Given the description of an element on the screen output the (x, y) to click on. 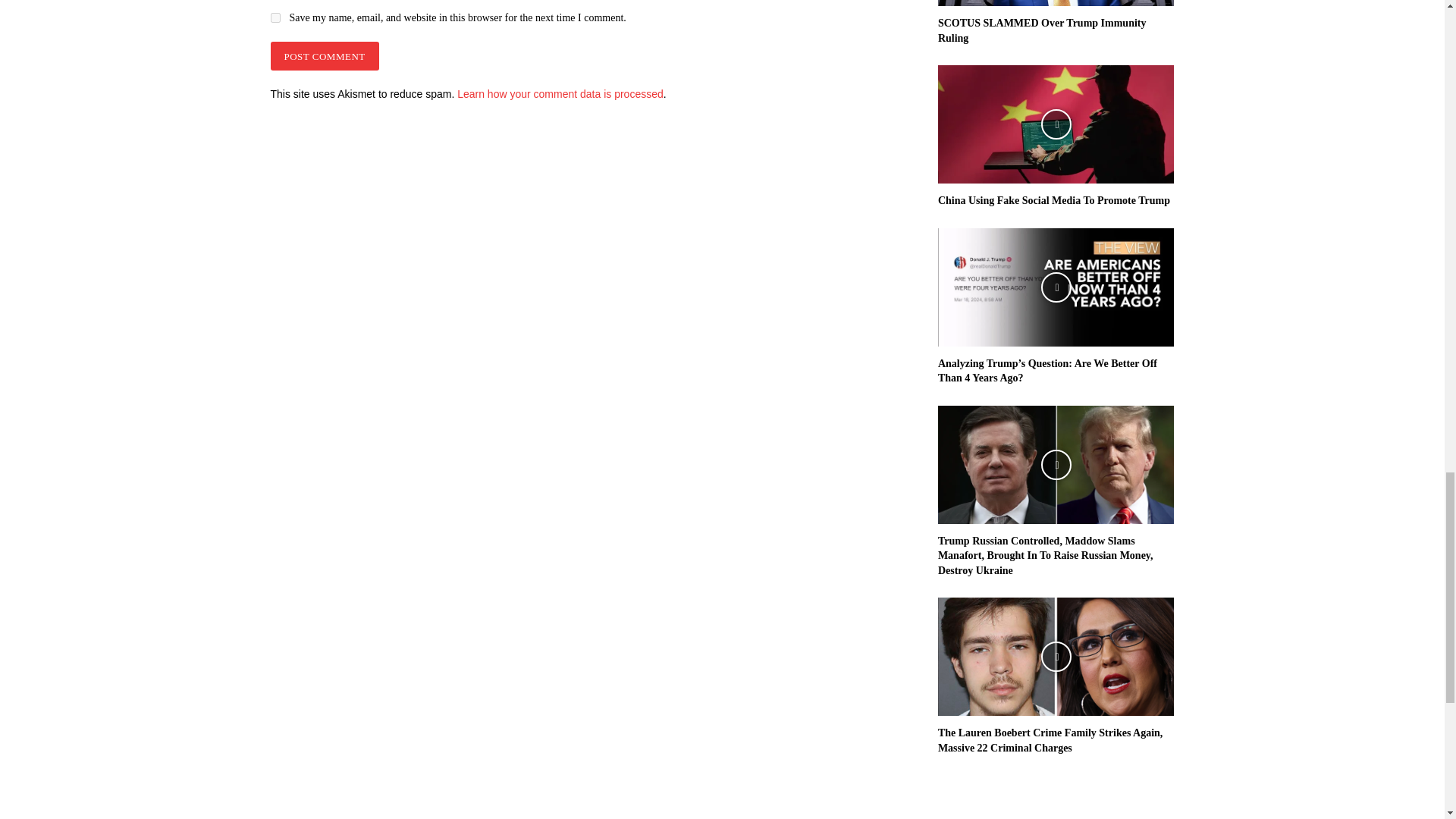
SCOTUS SLAMMED Over Trump Immunity Ruling (1042, 30)
SCOTUS SLAMMED Over Trump Immunity Ruling (1055, 2)
yes (274, 17)
Post Comment (323, 56)
